Given the description of an element on the screen output the (x, y) to click on. 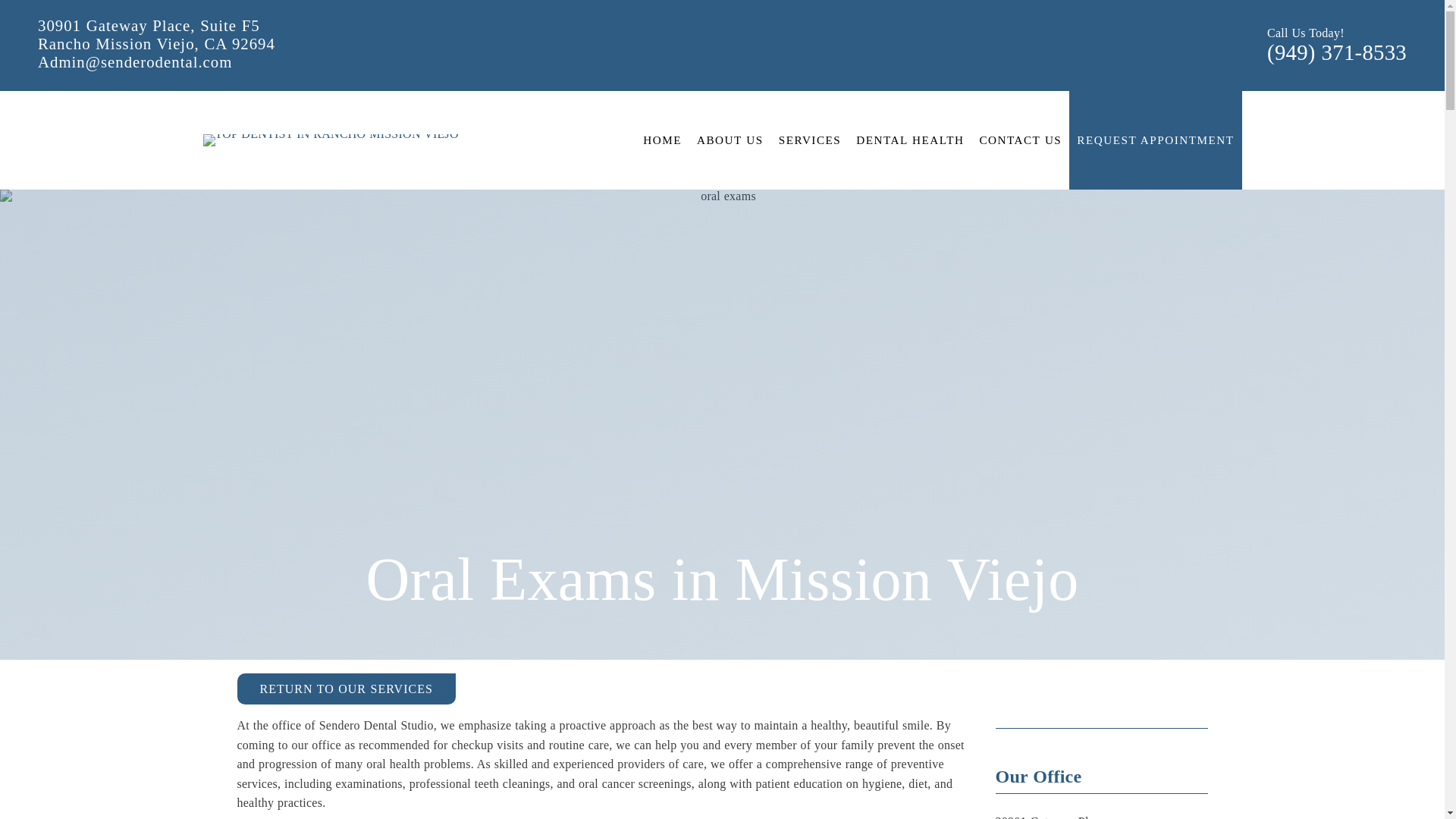
RETURN TO OUR SERVICES (344, 688)
